Given the description of an element on the screen output the (x, y) to click on. 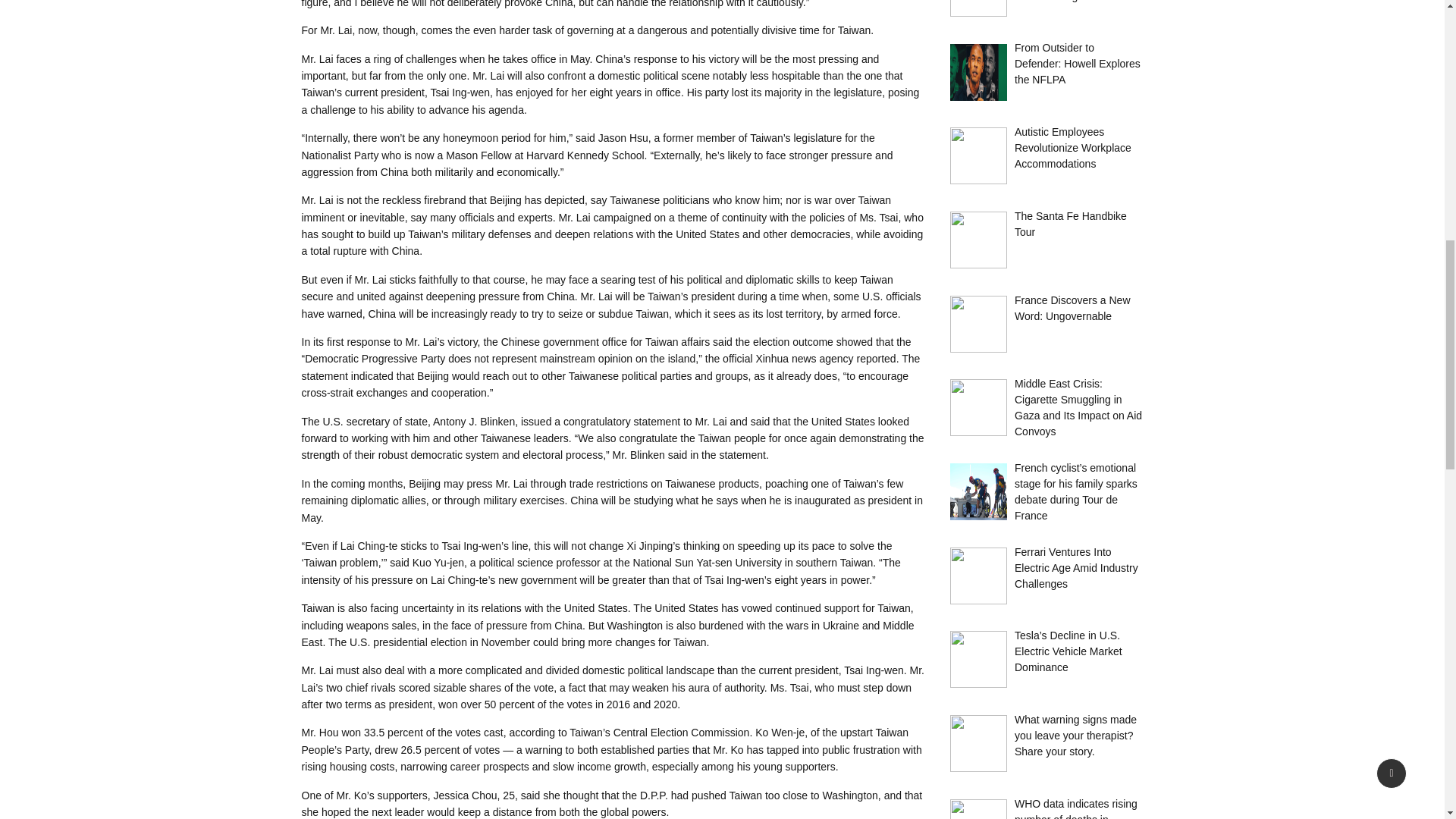
The Santa Fe Handbike Tour (1070, 223)
Ferrari Ventures Into Electric Age Amid Industry Challenges (1076, 567)
From Outsider to Defender: Howell Explores the NFLPA (1077, 63)
France Discovers a New Word: Ungovernable (1072, 308)
Autistic Employees Revolutionize Workplace Accommodations (1072, 147)
